Given the description of an element on the screen output the (x, y) to click on. 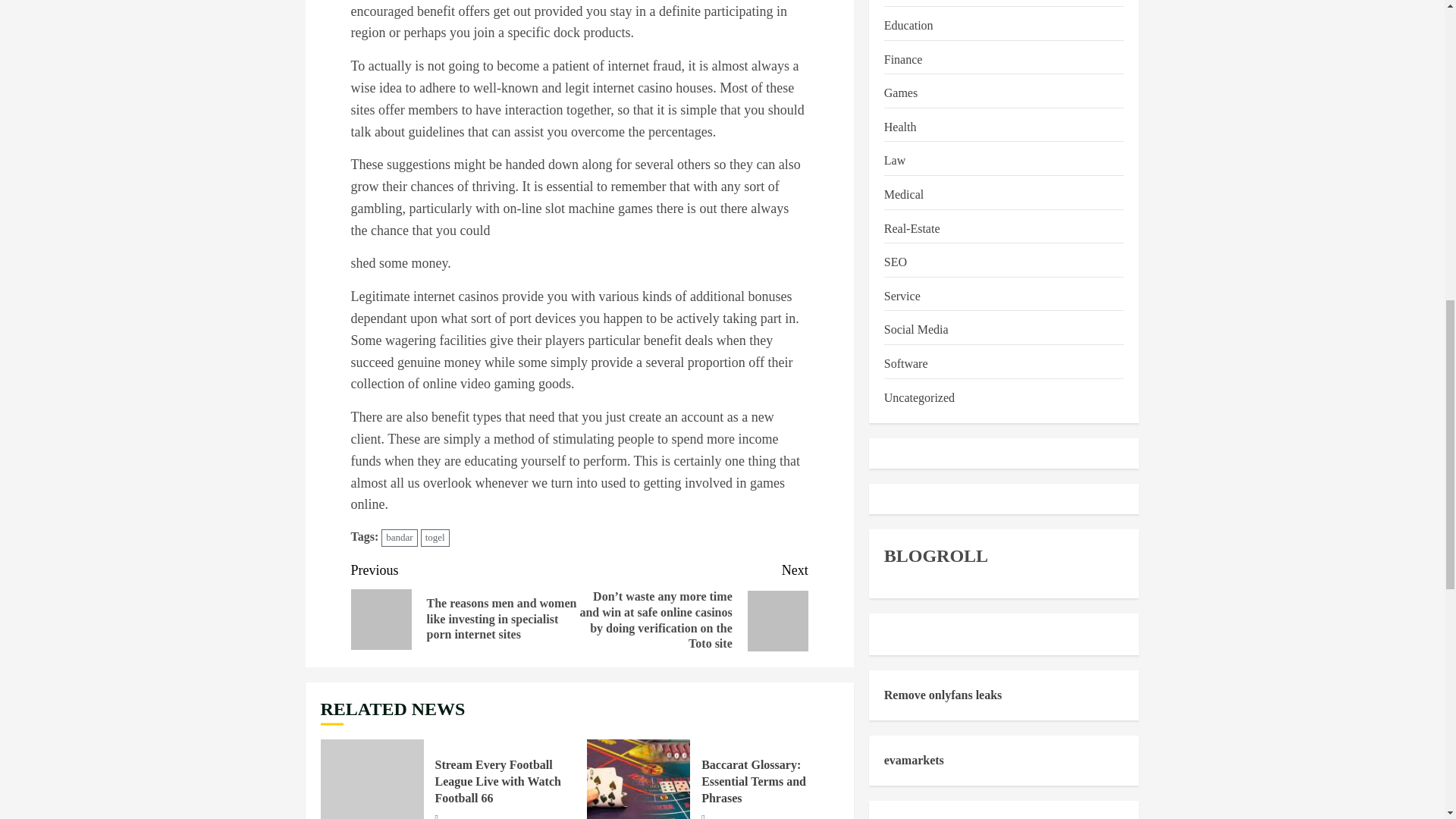
Business (905, 1)
Health (900, 127)
Games (900, 93)
Finance (903, 59)
Baccarat Glossary: Essential Terms and Phrases (753, 781)
bandar (398, 538)
Real-Estate (911, 229)
Stream Every Football League Live with Watch Football 66 (497, 781)
Law (894, 160)
Baccarat Glossary: Essential Terms and Phrases (638, 779)
